Given the description of an element on the screen output the (x, y) to click on. 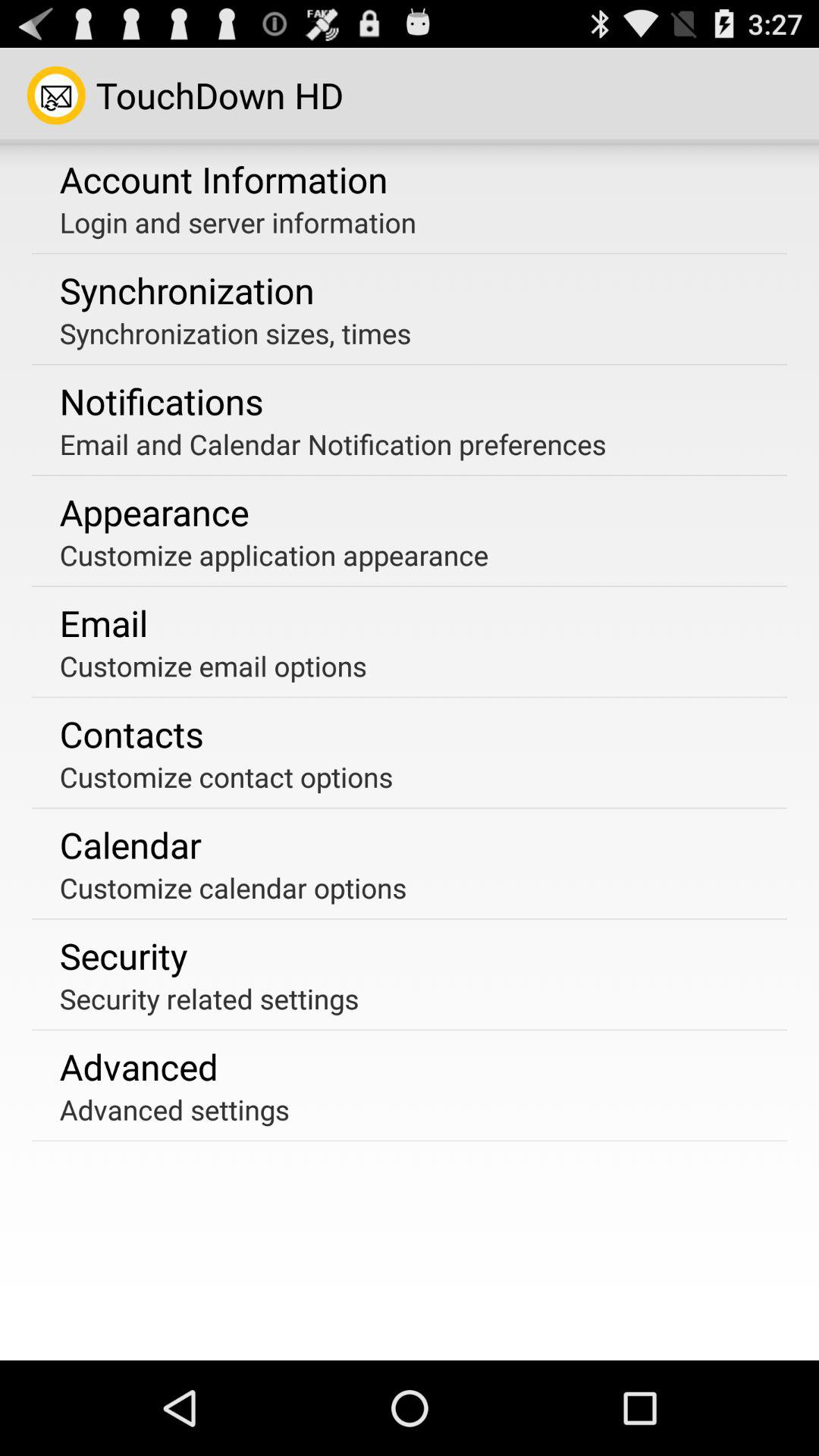
launch customize application appearance app (273, 554)
